Given the description of an element on the screen output the (x, y) to click on. 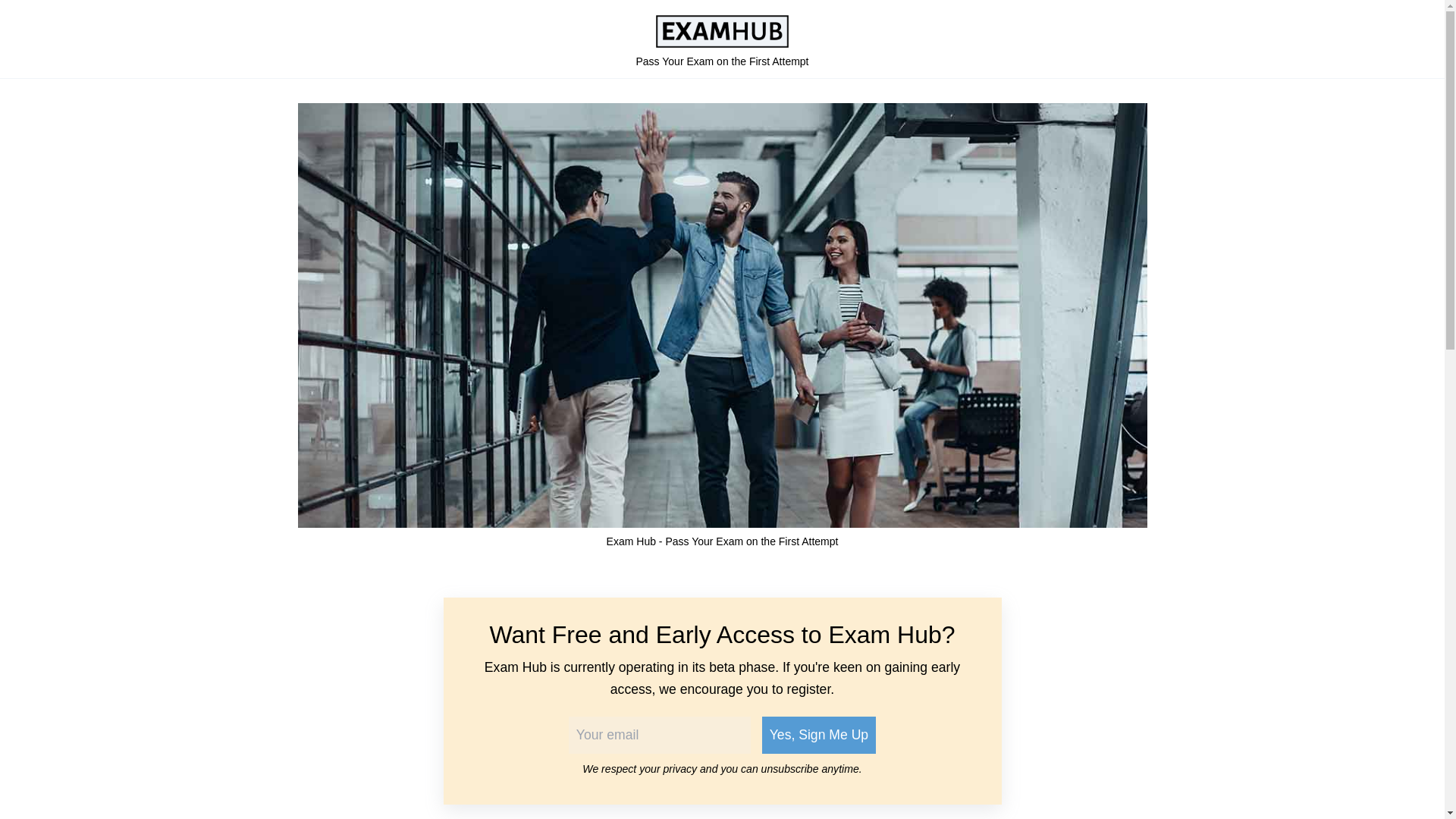
Yes, Sign Me Up (818, 734)
